Given the description of an element on the screen output the (x, y) to click on. 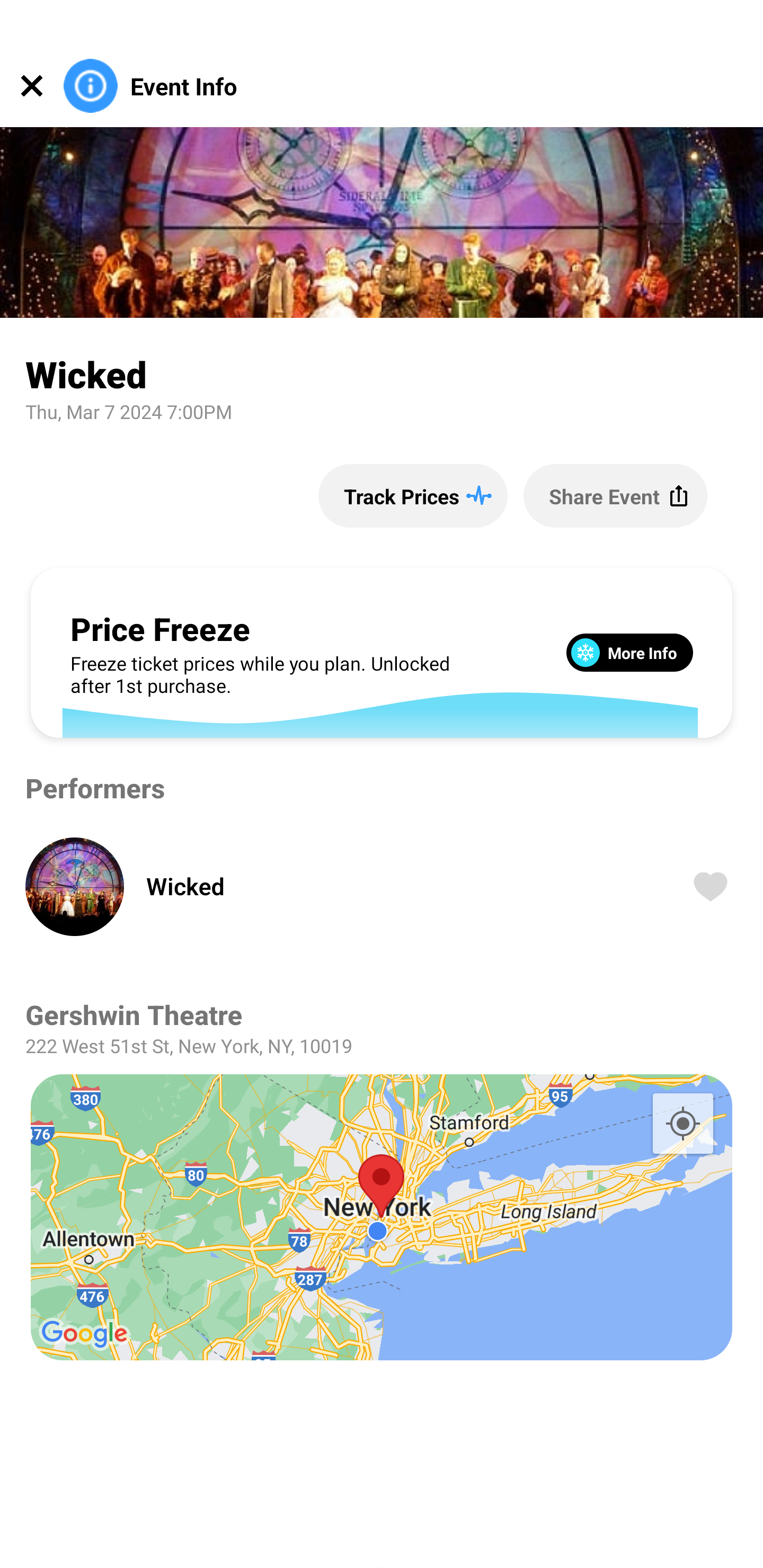
Track Prices (412, 495)
Share Event (615, 495)
More Info (629, 652)
Wicked (394, 886)
Google Map Gershwin Theatre My Location (381, 1217)
My Location (682, 1123)
